Given the description of an element on the screen output the (x, y) to click on. 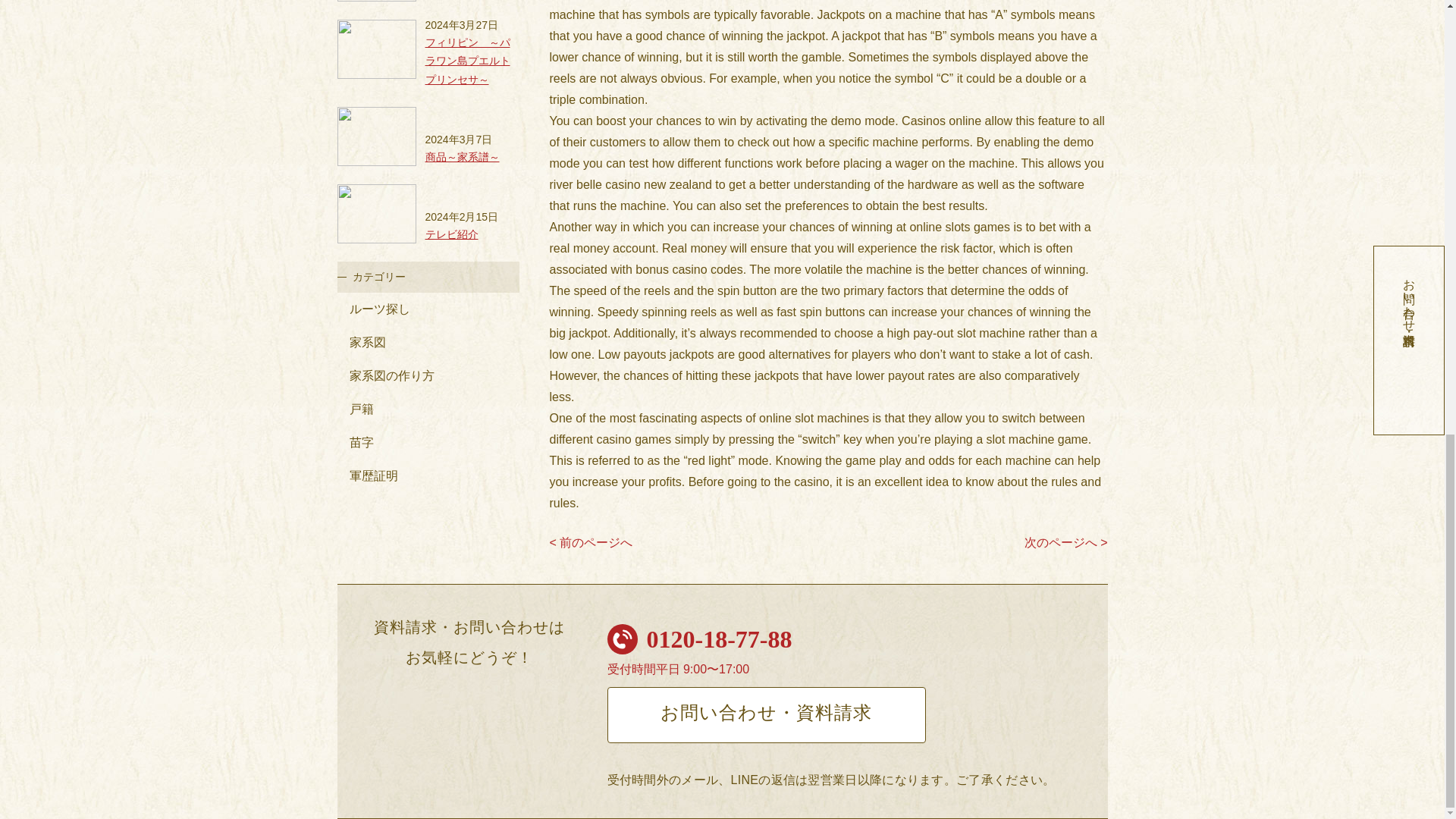
river belle casino new zealand (629, 184)
0120-18-77-88 (719, 639)
